Given the description of an element on the screen output the (x, y) to click on. 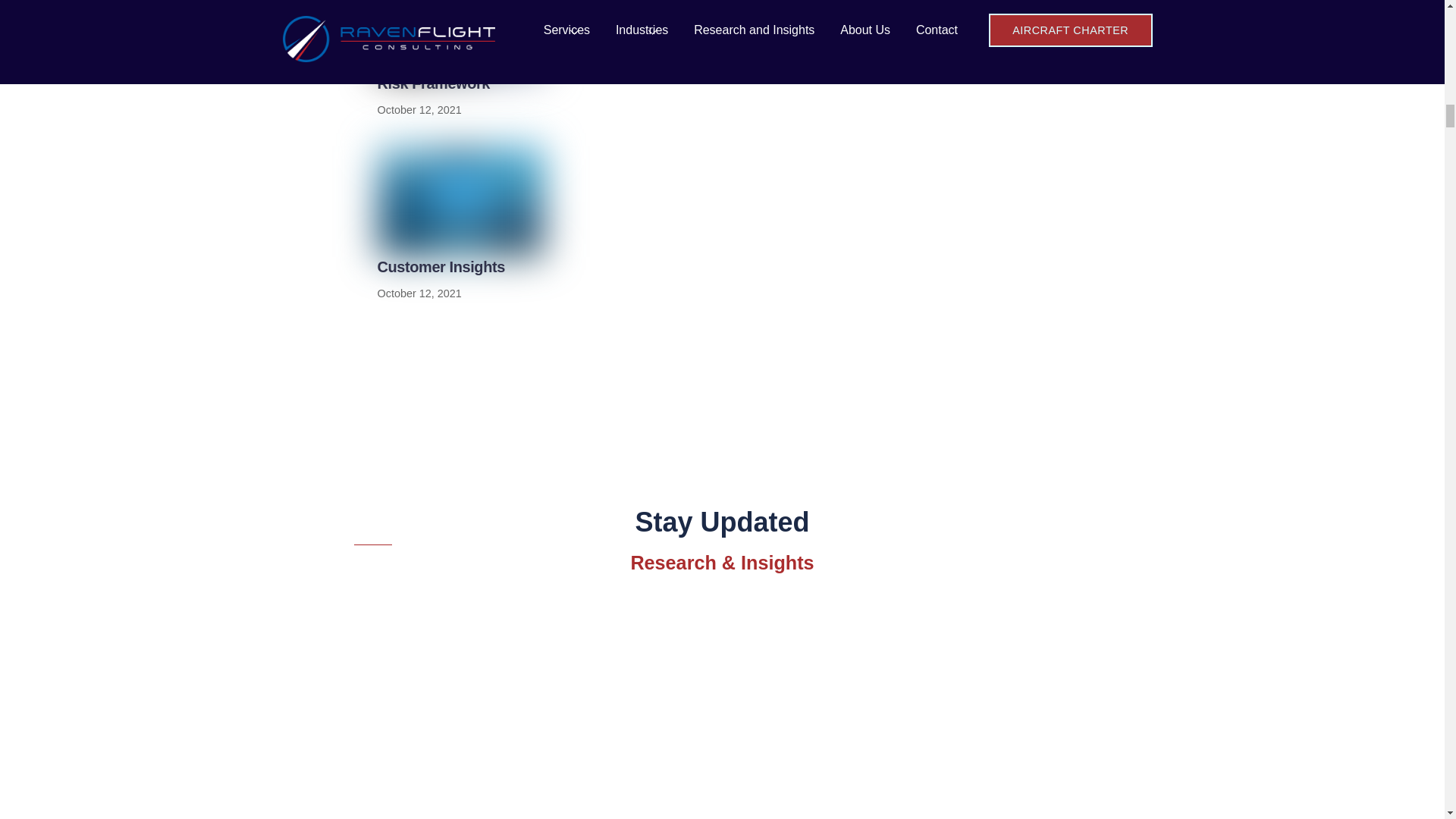
Aerospace (460, 36)
Risk Framework (433, 83)
What-Skills-Do-I-Need-to-Become-a-Data-Scientist (460, 200)
